Given the description of an element on the screen output the (x, y) to click on. 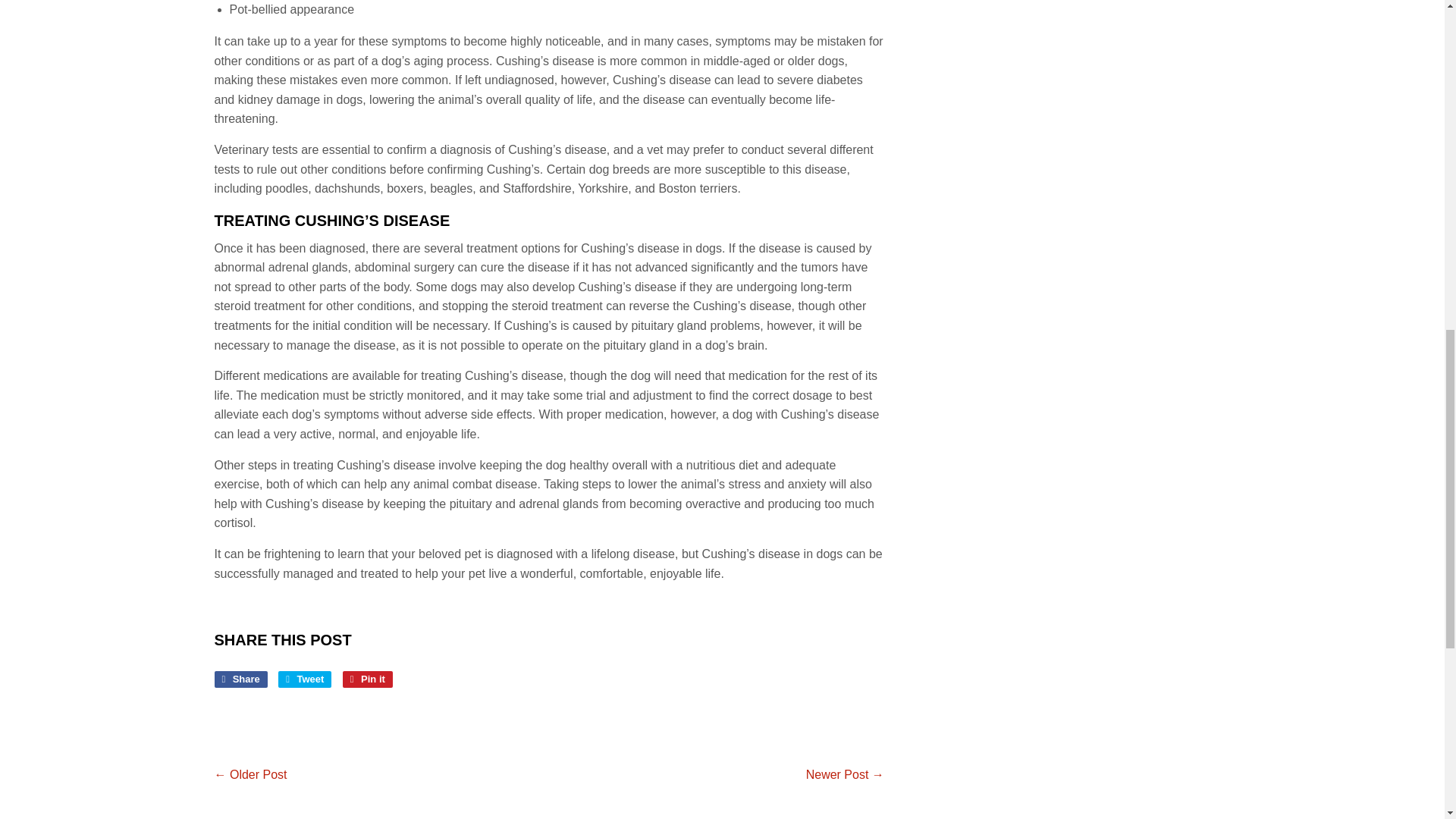
Pin on Pinterest (367, 678)
Tweet on Twitter (367, 678)
Share on Facebook (304, 678)
